Given the description of an element on the screen output the (x, y) to click on. 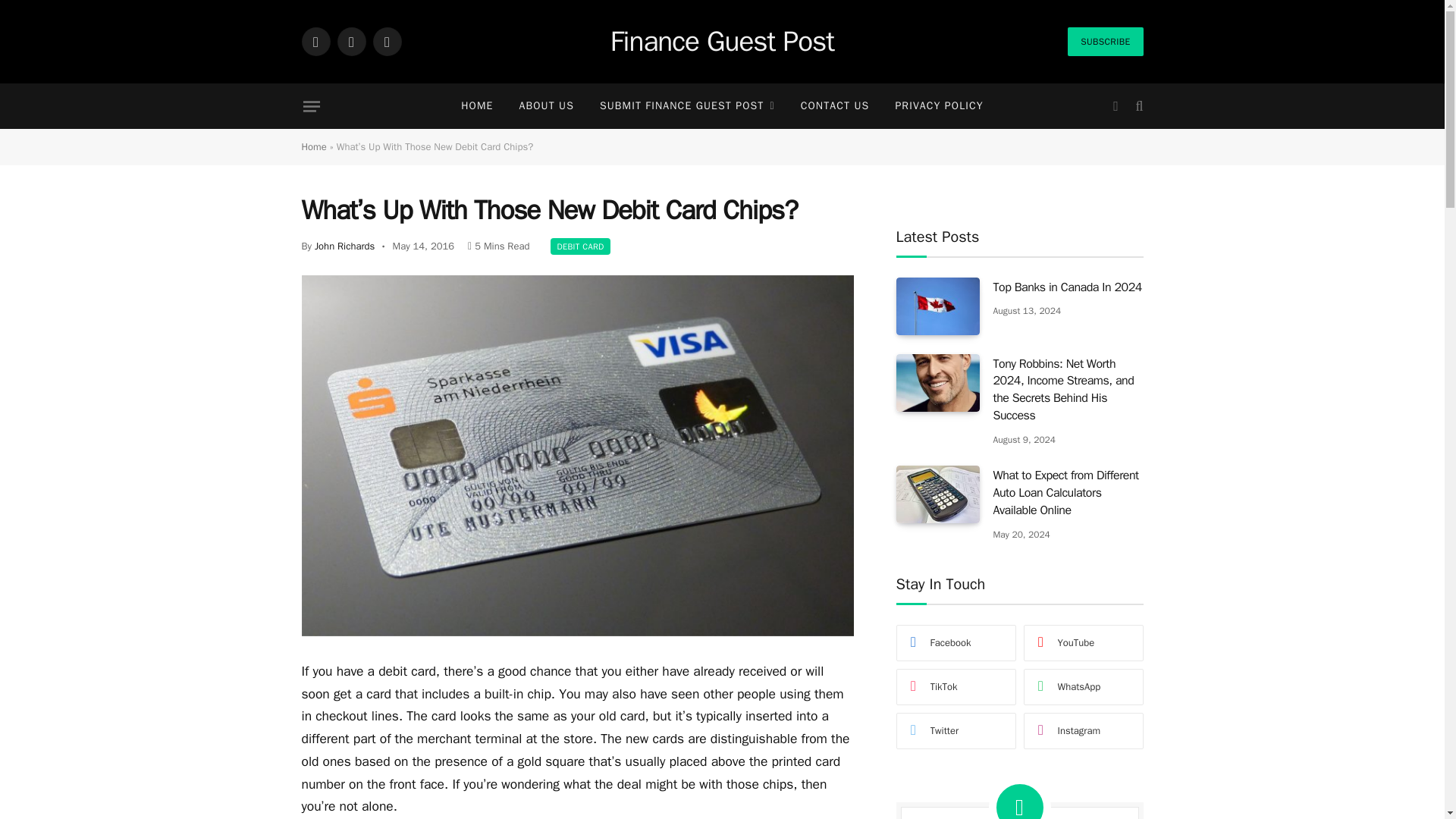
Finance Guest Post (722, 41)
HOME (476, 105)
ABOUT US (545, 105)
Home (313, 146)
DEBIT CARD (580, 246)
Instagram (386, 41)
CONTACT US (834, 105)
Switch to Dark Design - easier on eyes. (1115, 106)
Facebook (315, 41)
